Given the description of an element on the screen output the (x, y) to click on. 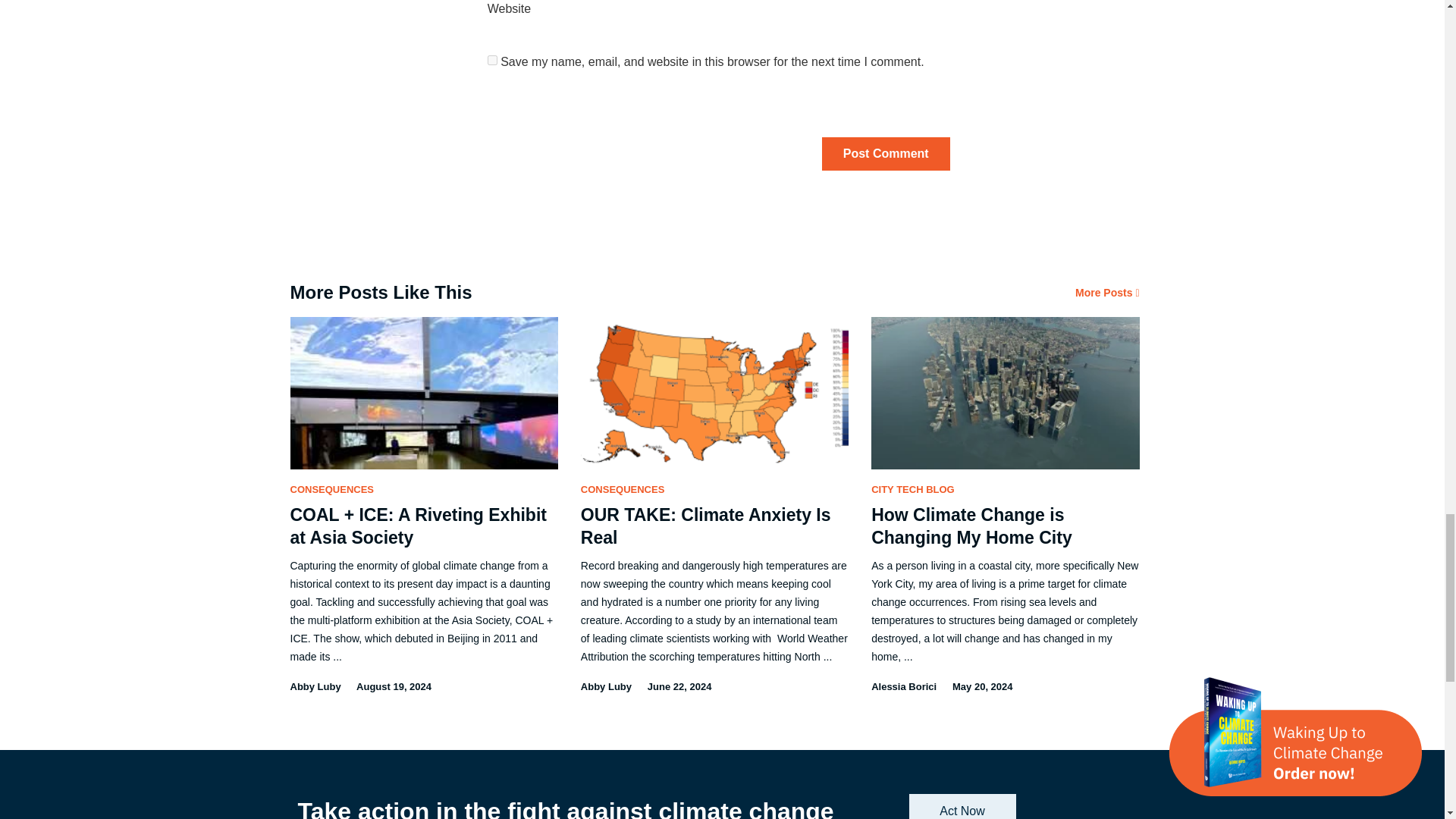
Post Comment (886, 153)
Act Now (961, 806)
Post Comment (886, 153)
yes (492, 60)
More Posts (1106, 292)
How Climate Change is Changing My Home City (970, 526)
OUR TAKE: Climate Anxiety Is Real (705, 526)
